Given the description of an element on the screen output the (x, y) to click on. 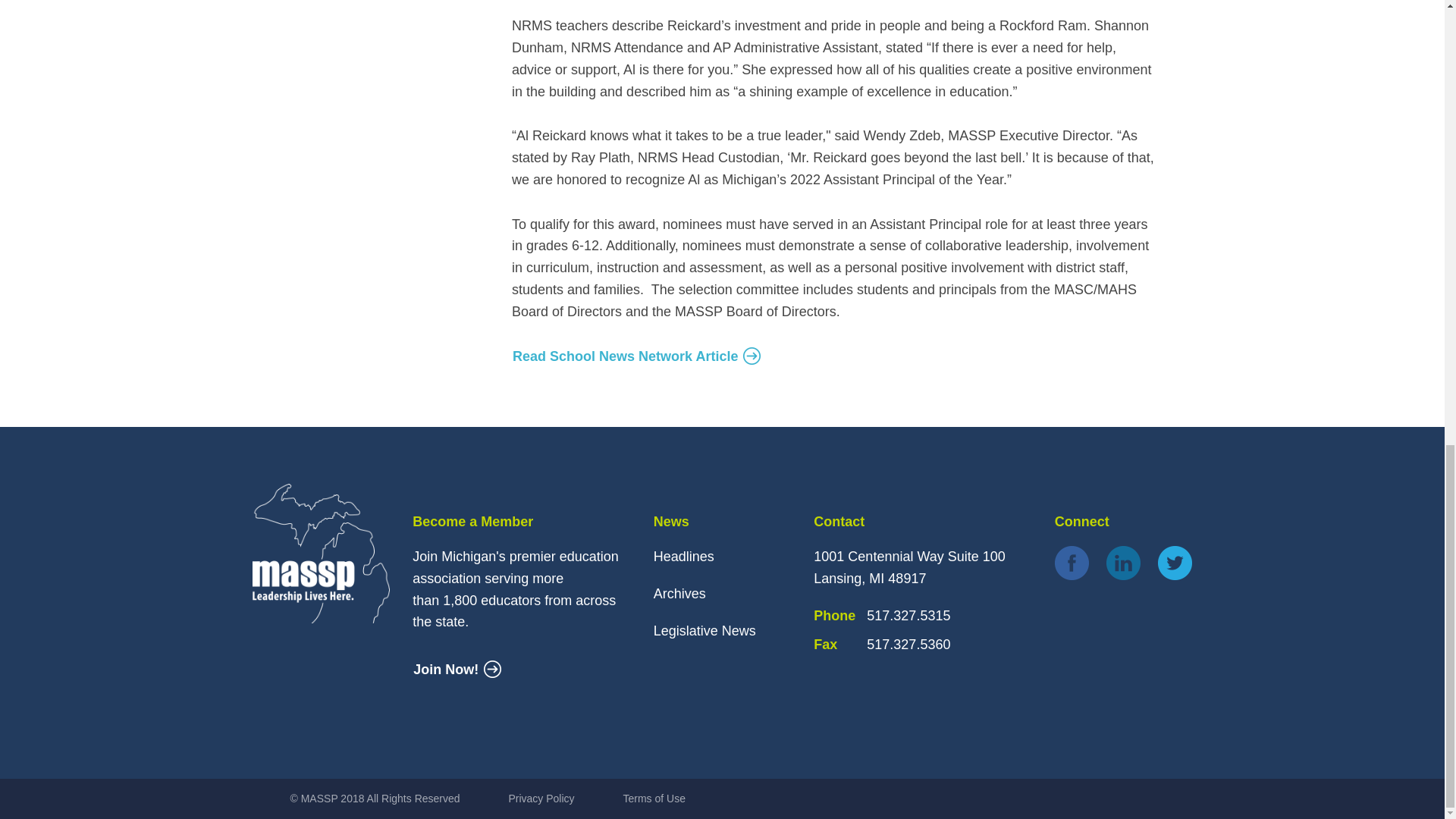
Archives (679, 593)
Join Now! (457, 670)
Legislative News (704, 630)
Read School News Network Article (636, 356)
Headlines (683, 556)
